Given the description of an element on the screen output the (x, y) to click on. 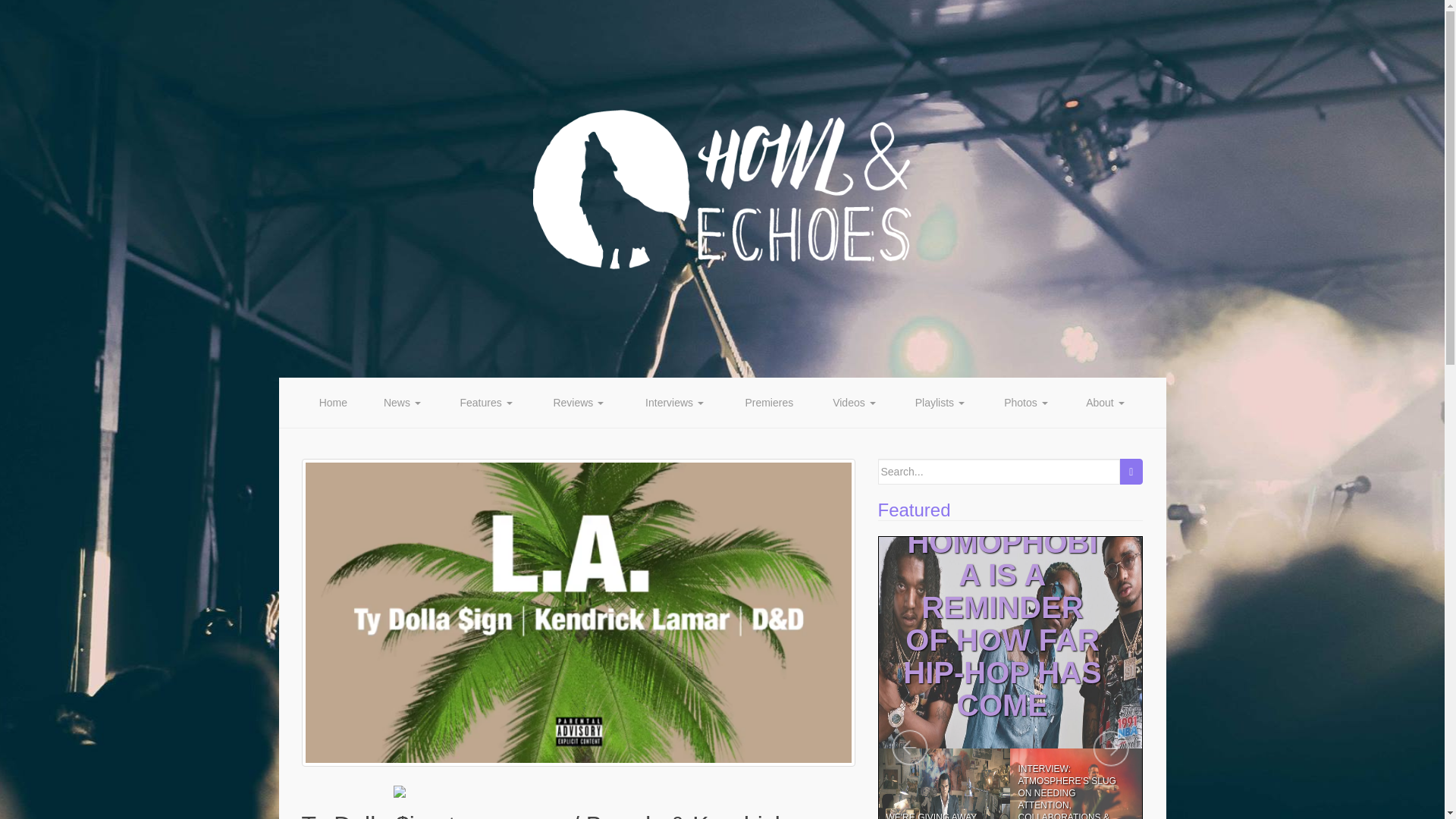
About (1104, 402)
News (402, 402)
Reviews (578, 402)
Playlists (939, 402)
Photos (1026, 402)
Interviews (674, 402)
Features (485, 402)
News (402, 402)
Interviews (674, 402)
Premieres (769, 402)
Home (333, 402)
Home (333, 402)
Reviews (578, 402)
Features (485, 402)
Videos (854, 402)
